Given the description of an element on the screen output the (x, y) to click on. 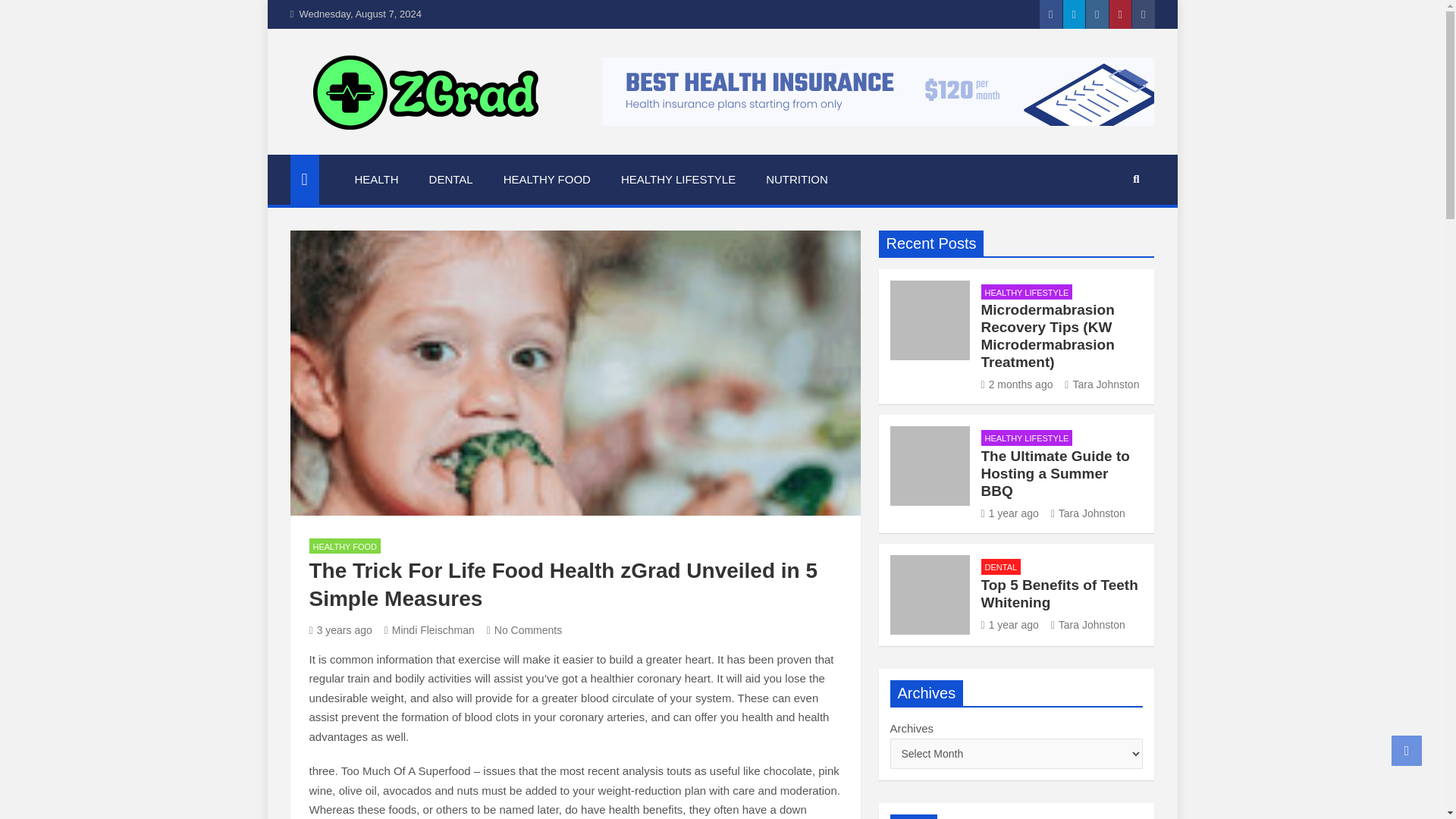
HEALTHY LIFESTYLE (678, 179)
HEALTHY LIFESTYLE (1027, 437)
zGrad (332, 151)
Mindi Fleischman (429, 630)
HEALTHY LIFESTYLE (1027, 292)
1 year ago (1010, 512)
Top 5 Benefits of Teeth Whitening (1010, 624)
HEALTHY FOOD (344, 546)
DENTAL (450, 179)
HEALTH (376, 179)
